Given the description of an element on the screen output the (x, y) to click on. 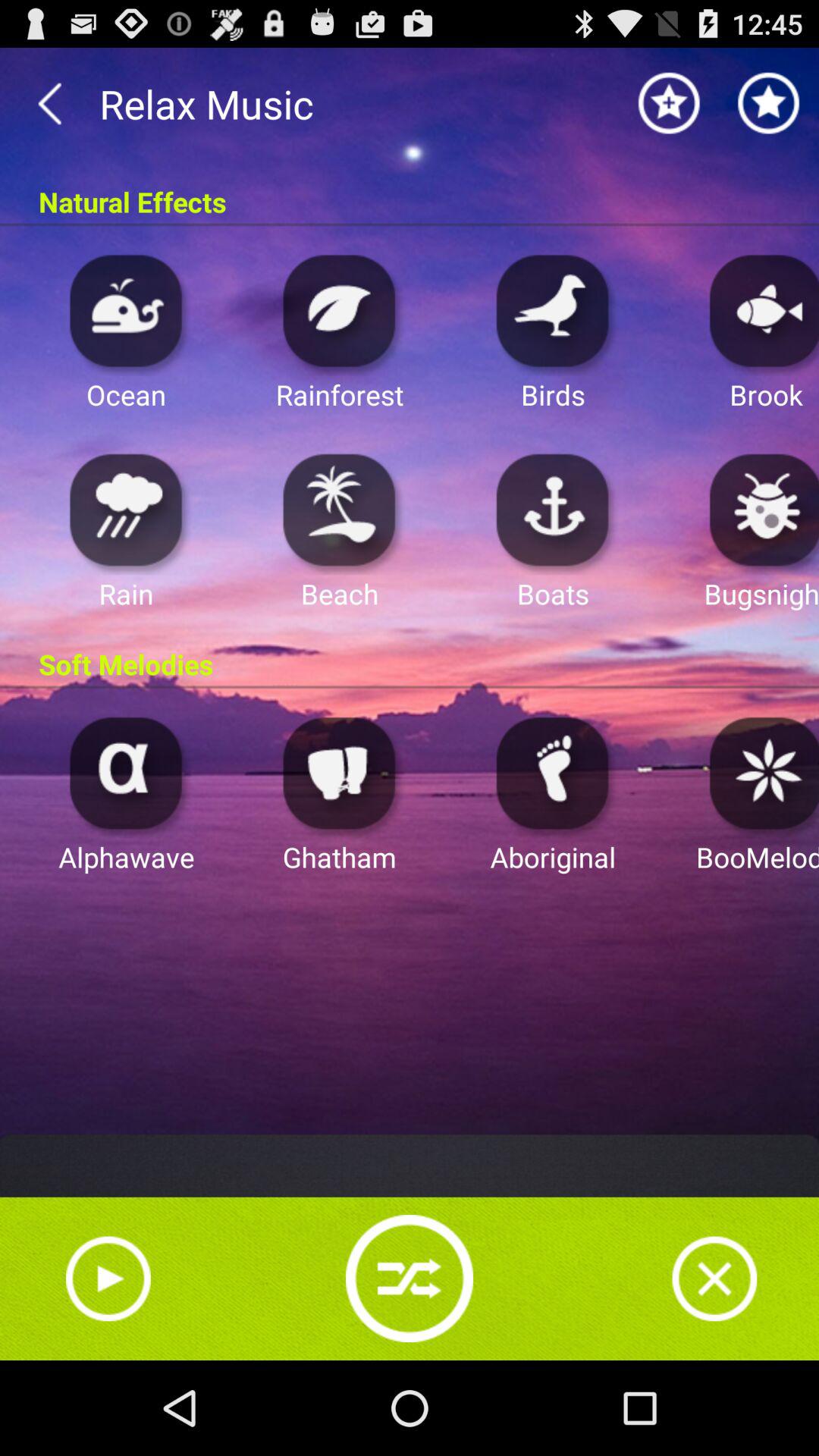
open app (552, 309)
